Given the description of an element on the screen output the (x, y) to click on. 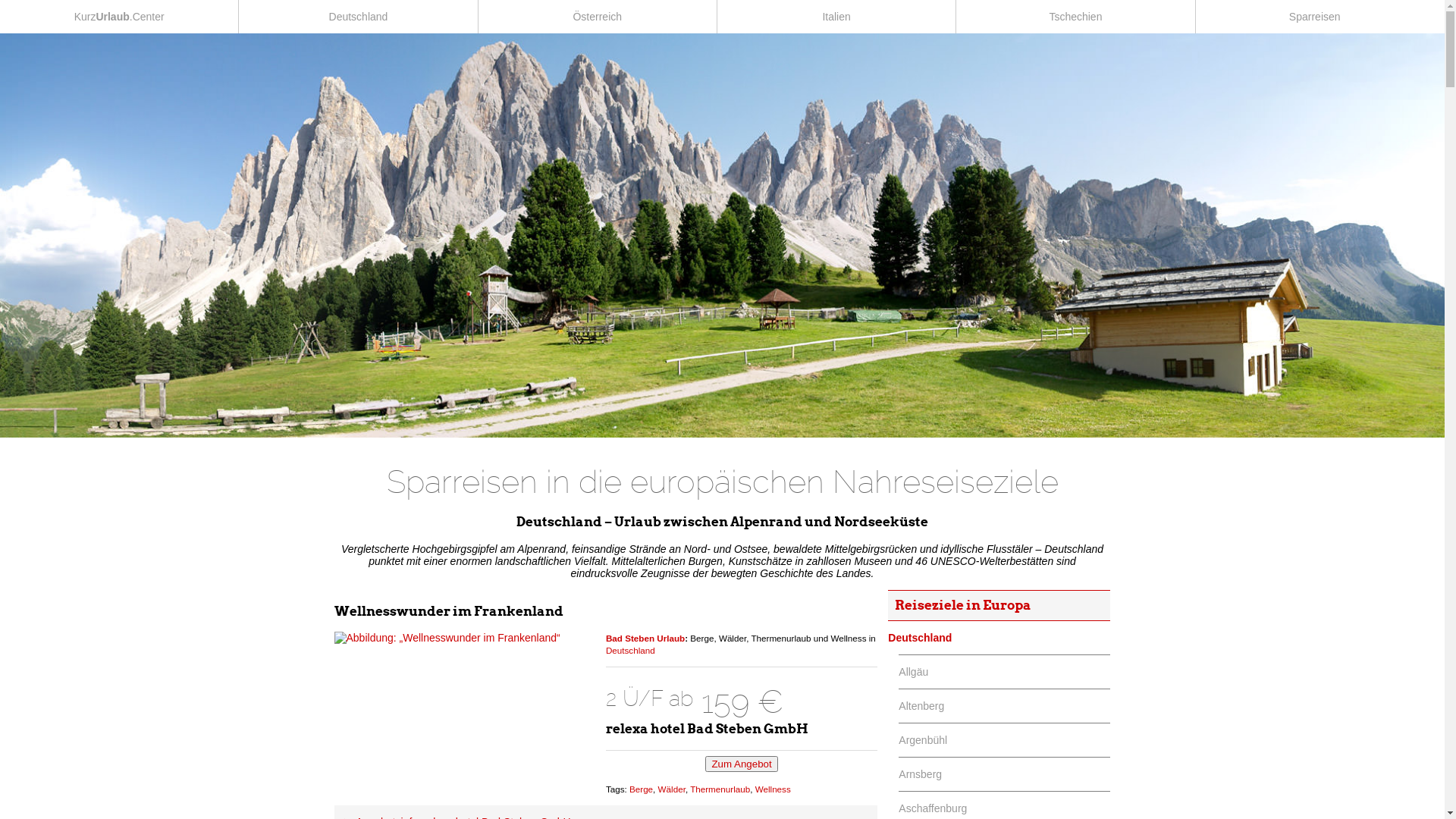
Sparreisen Element type: text (1314, 16)
Thermenurlaub Element type: text (719, 788)
Deutschland Element type: text (999, 637)
Wellness Element type: text (772, 788)
Berge Element type: text (640, 788)
Italien Element type: text (836, 16)
Bad Steben Urlaub Element type: text (644, 638)
Zum Angebot Element type: text (741, 763)
Arnsberg Element type: text (1004, 773)
Deutschland Element type: text (357, 16)
Altenberg Element type: text (1004, 705)
Tschechien Element type: text (1075, 16)
KurzUrlaub.Center Element type: text (119, 16)
Deutschland Element type: text (630, 650)
Zum Angebot Element type: text (741, 763)
